Given the description of an element on the screen output the (x, y) to click on. 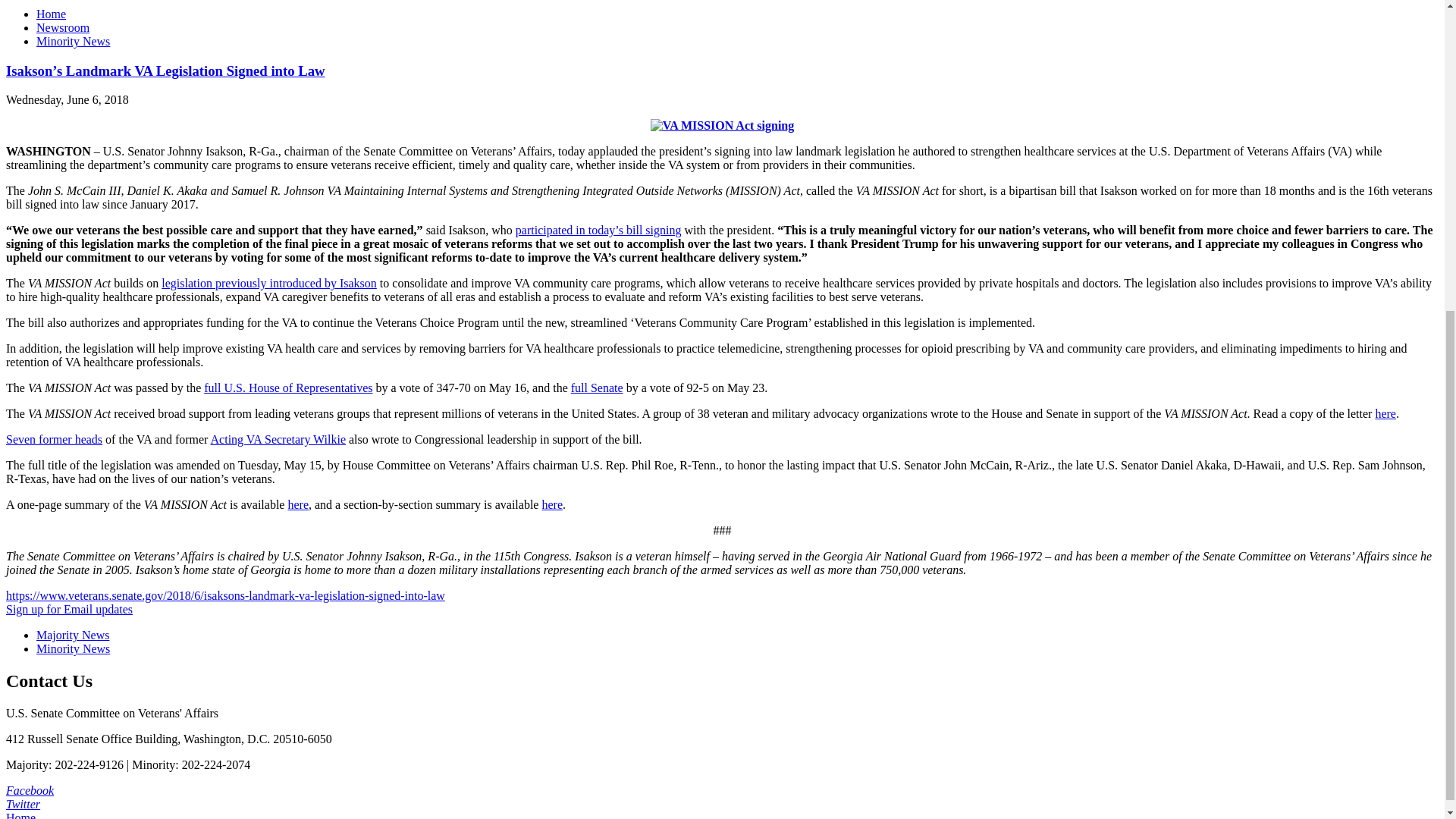
Newsroom (62, 27)
Twitter (22, 803)
Facebook (29, 789)
VA MISSION Act signing (722, 125)
Home (50, 13)
